Given the description of an element on the screen output the (x, y) to click on. 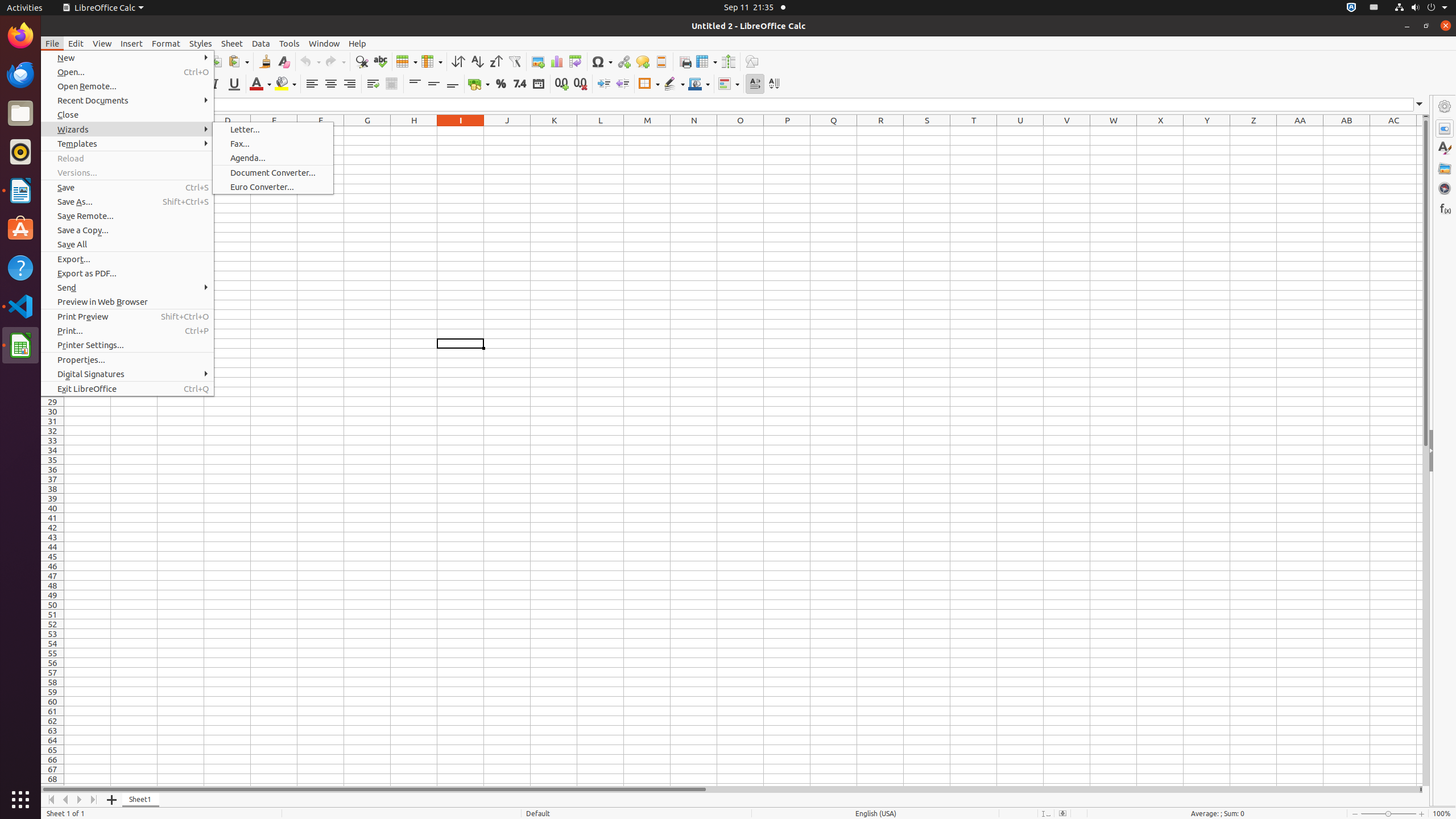
Image Element type: push-button (537, 61)
Save Remote... Element type: menu-item (126, 215)
Number Element type: push-button (519, 83)
Move To Home Element type: push-button (51, 799)
Text direction from left to right Element type: toggle-button (754, 83)
